Given the description of an element on the screen output the (x, y) to click on. 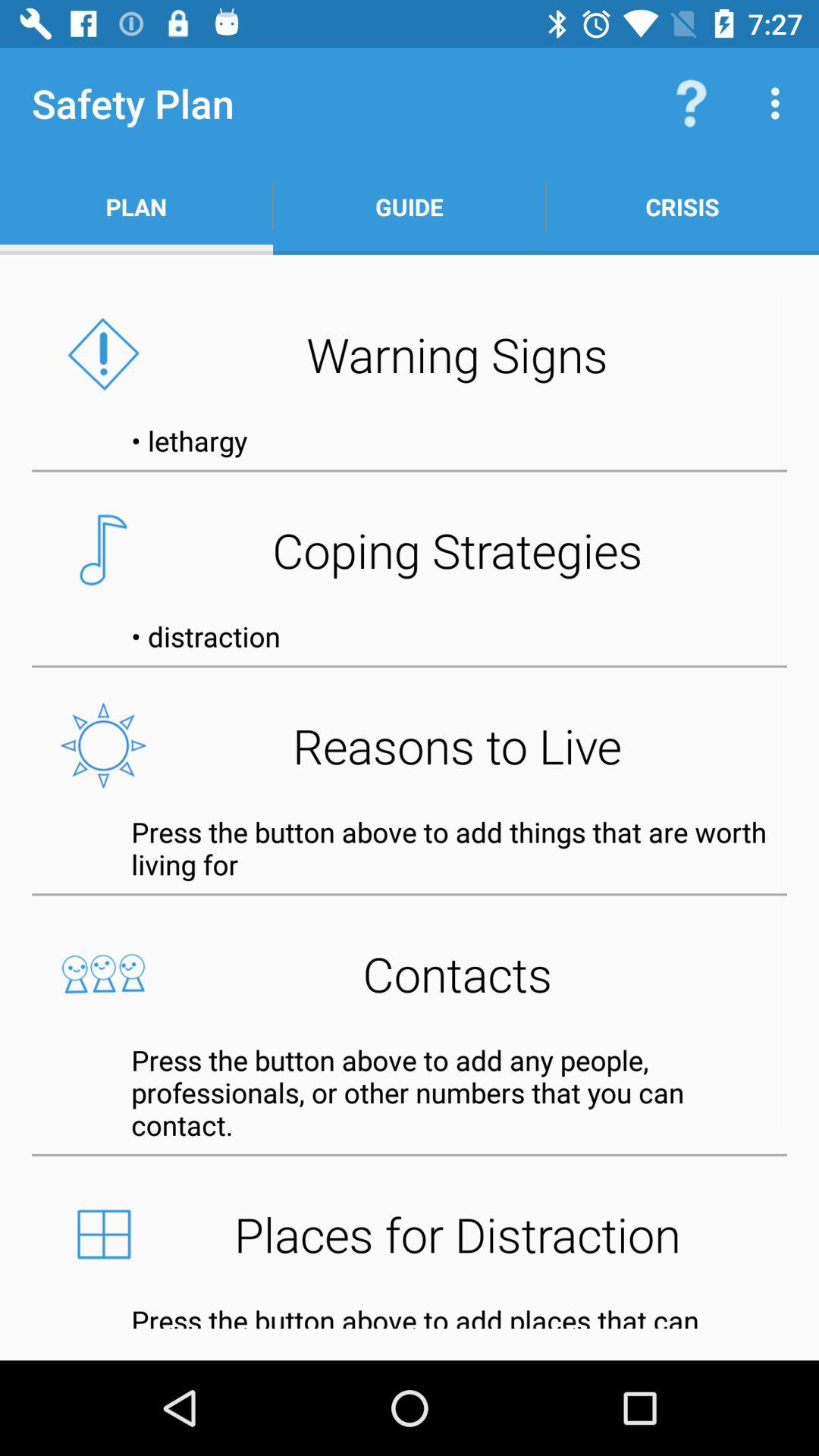
click the crisis item (682, 206)
